Given the description of an element on the screen output the (x, y) to click on. 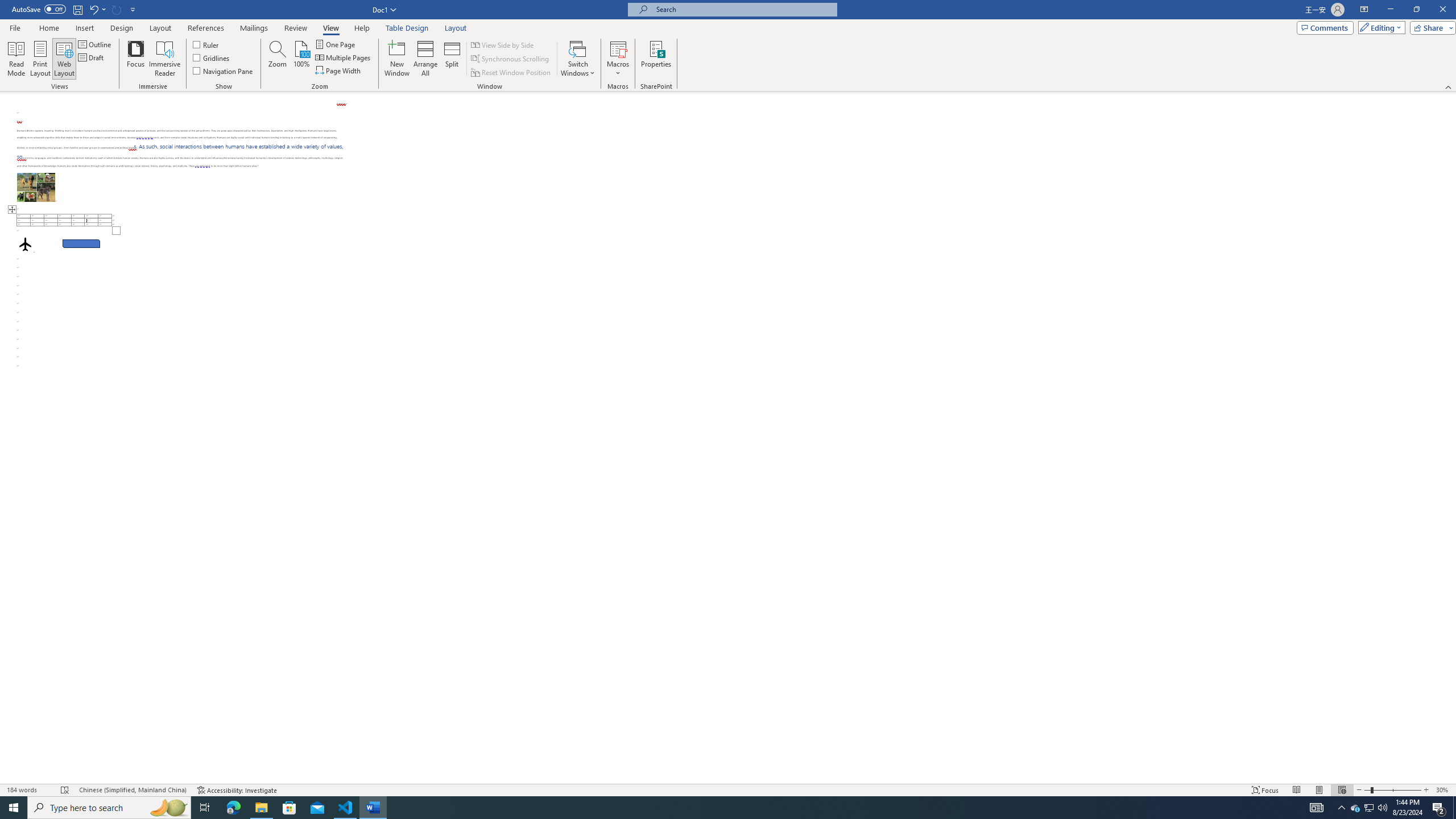
Focus  (1265, 790)
Zoom Out (1367, 790)
Class: NetUIScrollBar (1450, 437)
Mailings (253, 28)
Comments (1325, 27)
Save (77, 9)
Web Layout (63, 58)
Outline (95, 44)
Synchronous Scrolling (510, 58)
Zoom... (276, 58)
Draft (91, 56)
Spelling and Grammar Check Errors (65, 790)
Split (451, 58)
System (6, 6)
Table Design (407, 28)
